Given the description of an element on the screen output the (x, y) to click on. 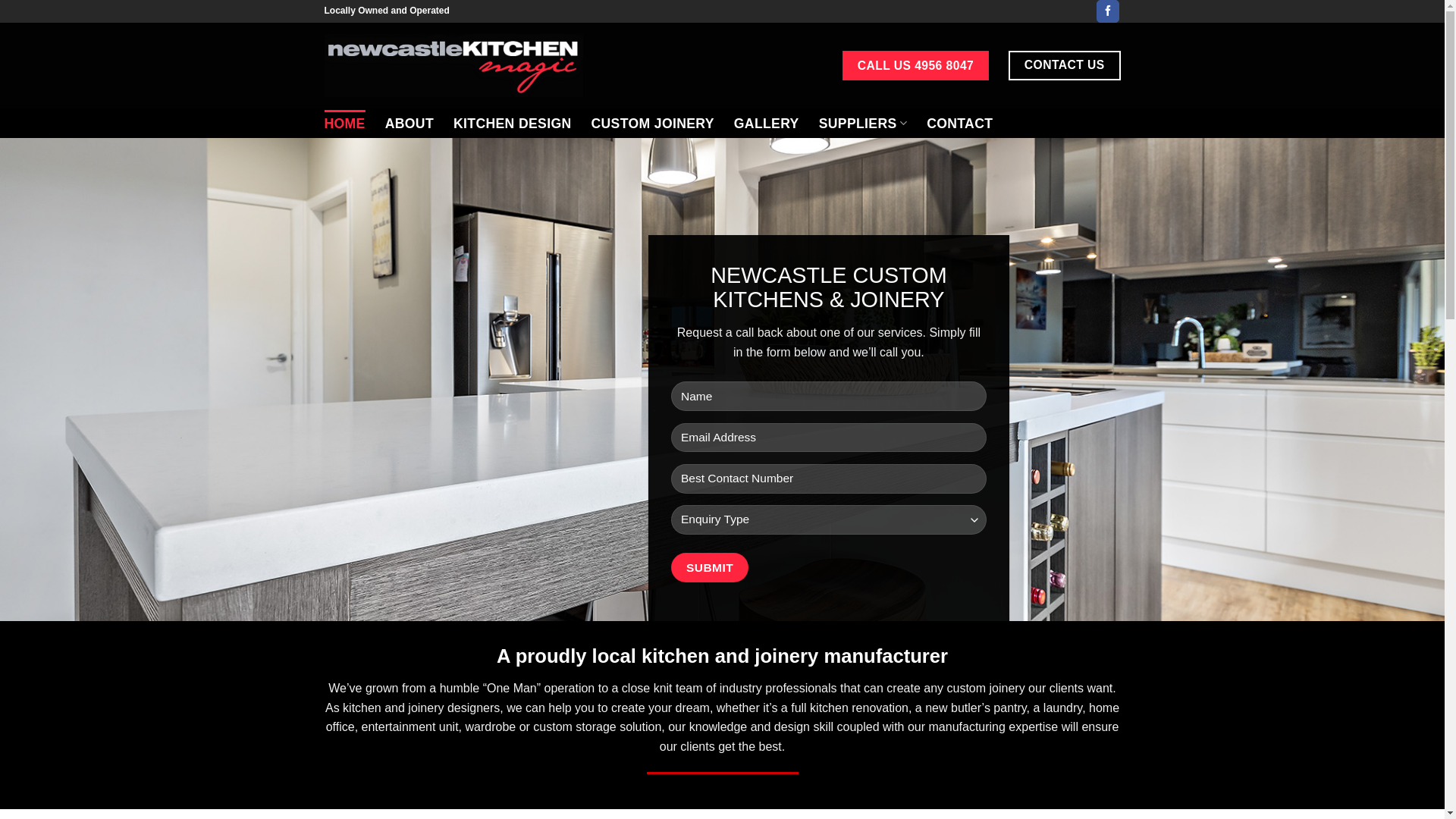
Skip to content Element type: text (0, 0)
Submit Element type: text (709, 567)
ABOUT Element type: text (409, 123)
CONTACT Element type: text (959, 123)
CALL US 4956 8047 Element type: text (915, 65)
GALLERY Element type: text (766, 123)
CONTACT US Element type: text (1064, 65)
SUPPLIERS Element type: text (862, 123)
HOME Element type: text (344, 123)
KITCHEN DESIGN Element type: text (512, 123)
Newcastle Kitchen Magic - Custom made kitchens and joinery Element type: hover (453, 65)
CUSTOM JOINERY Element type: text (651, 123)
